Given the description of an element on the screen output the (x, y) to click on. 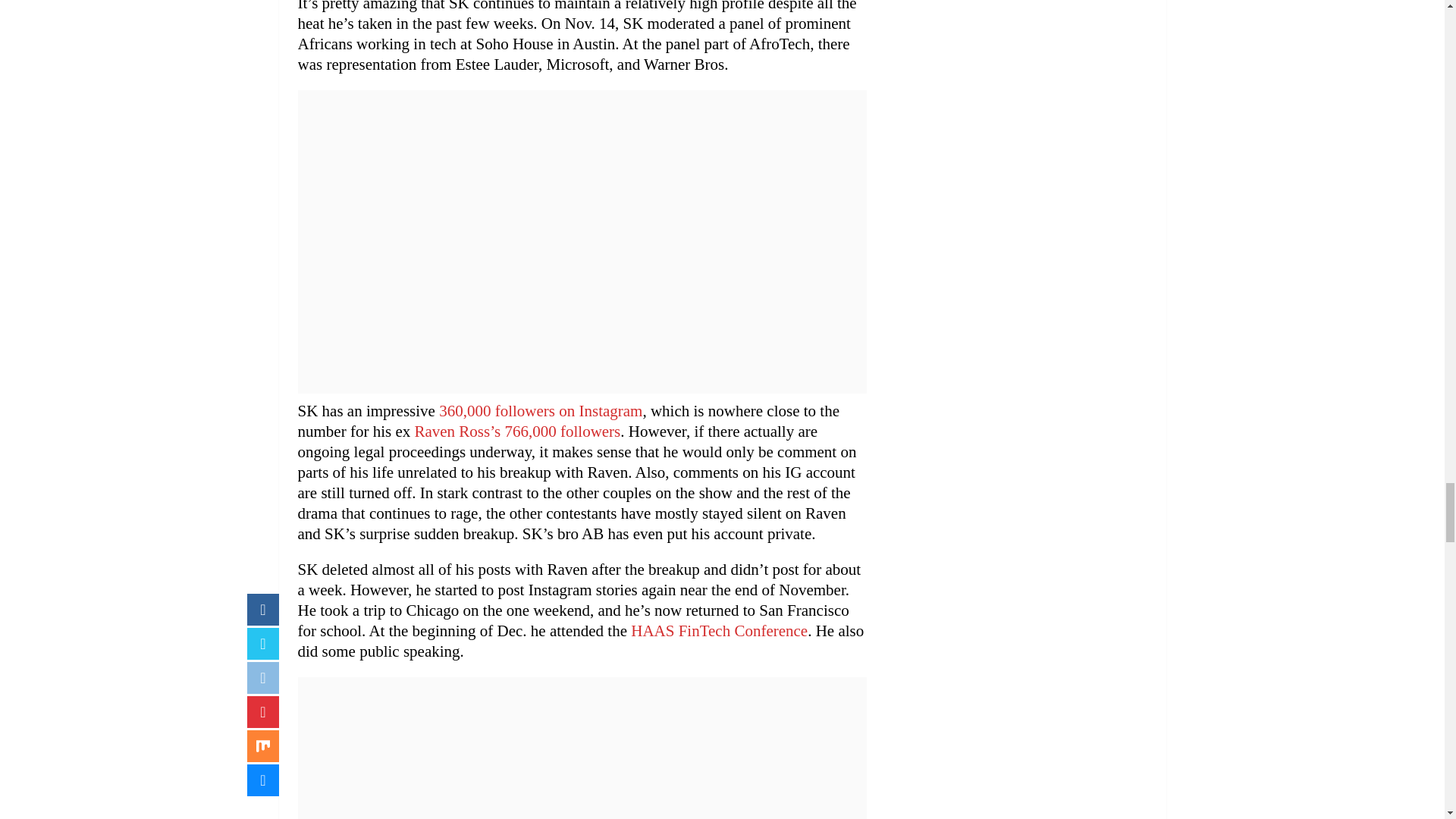
360,000 followers on Instagram (540, 411)
HAAS FinTech Conference (719, 630)
